Given the description of an element on the screen output the (x, y) to click on. 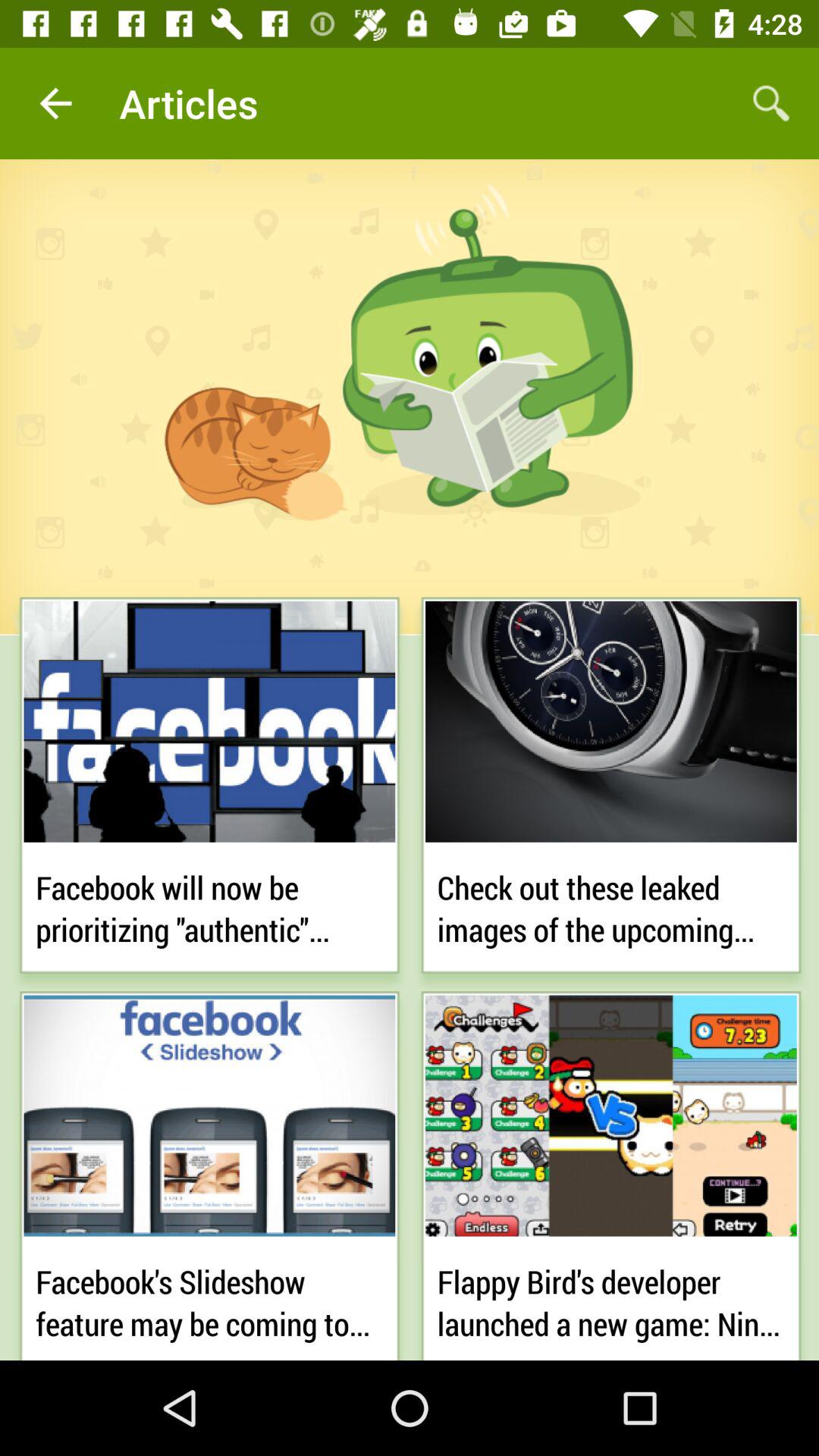
swipe until flappy bird s item (610, 1298)
